Given the description of an element on the screen output the (x, y) to click on. 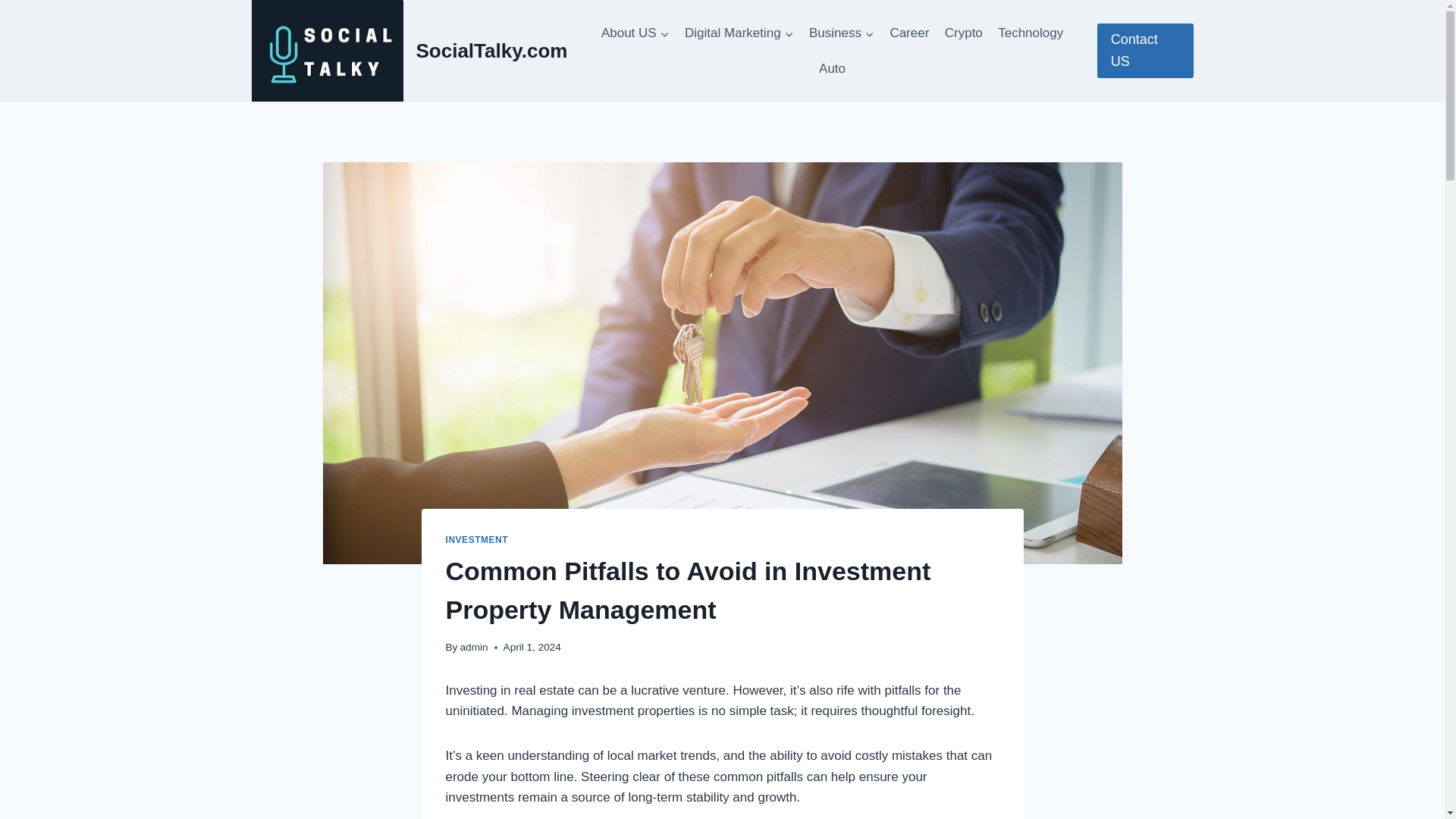
SocialTalky.com (409, 50)
admin (473, 646)
Business (842, 33)
INVESTMENT (476, 539)
Contact US (1145, 50)
About US (635, 33)
Auto (831, 68)
Digital Marketing (739, 33)
Crypto (963, 33)
Technology (1030, 33)
Career (909, 33)
